Given the description of an element on the screen output the (x, y) to click on. 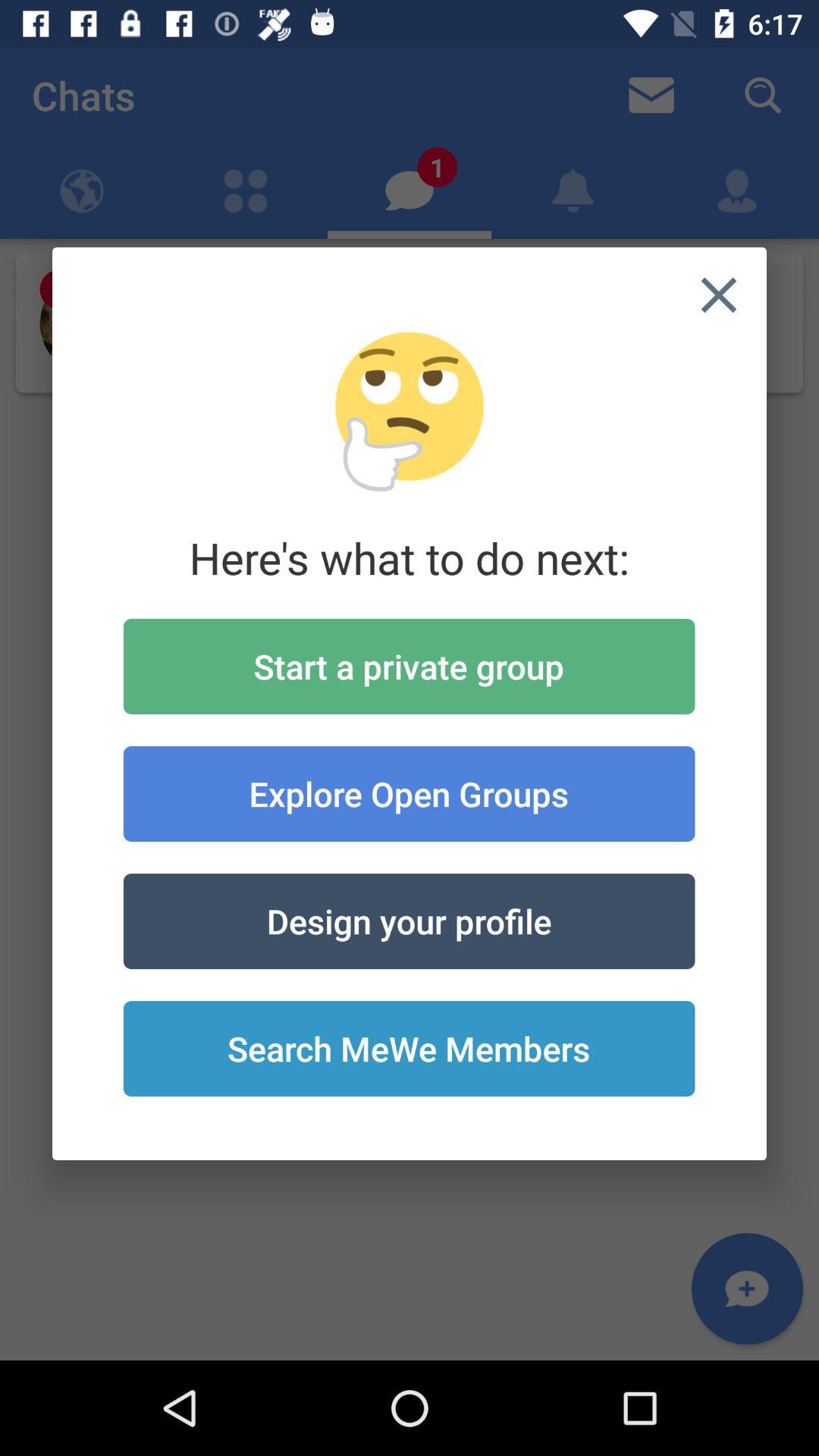
scroll until the design your profile icon (409, 921)
